Given the description of an element on the screen output the (x, y) to click on. 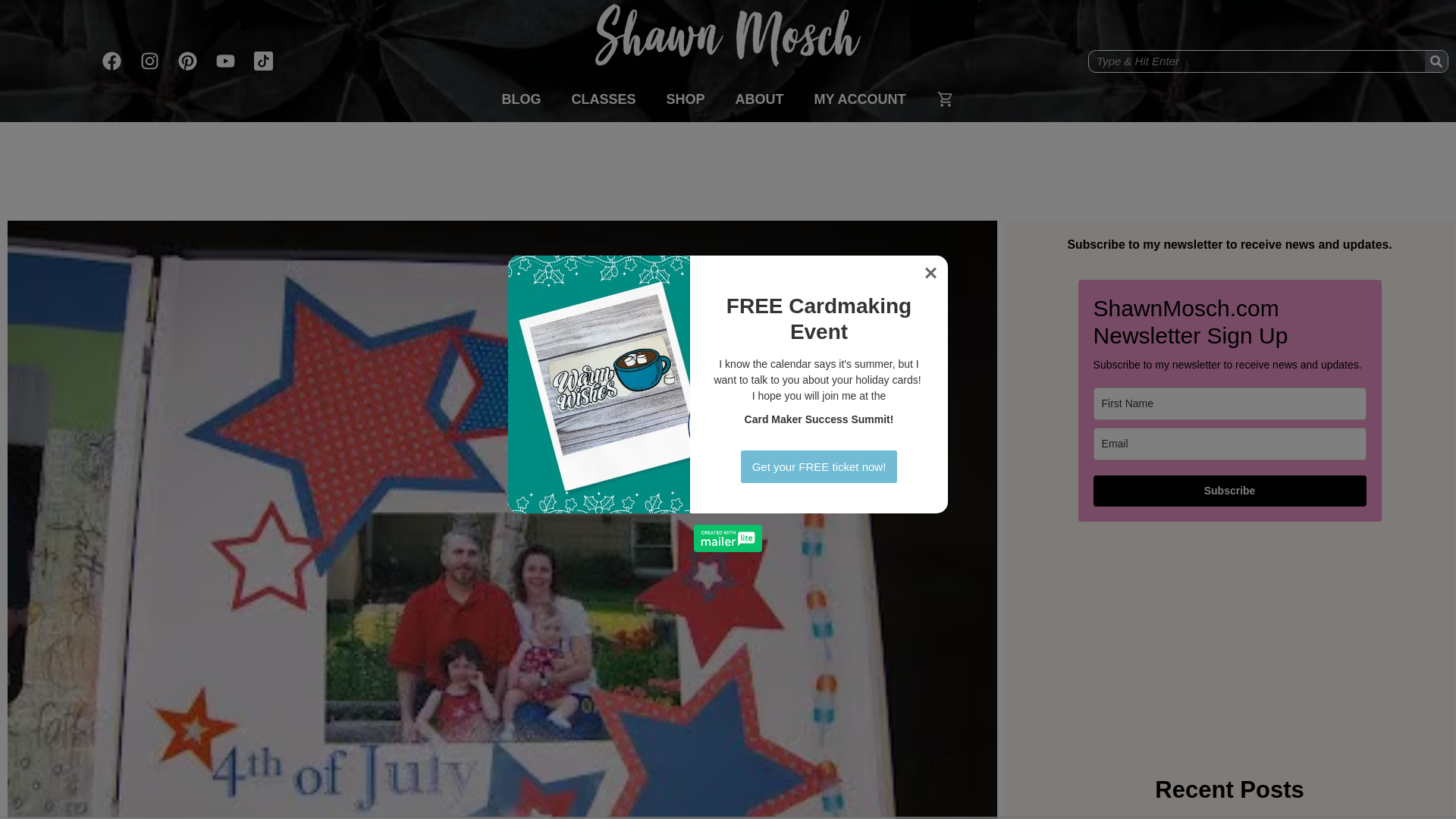
SHOP (684, 98)
ABOUT (759, 98)
CLASSES (603, 98)
MY ACCOUNT (860, 98)
BLOG (521, 98)
shawnmosch (727, 42)
